Given the description of an element on the screen output the (x, y) to click on. 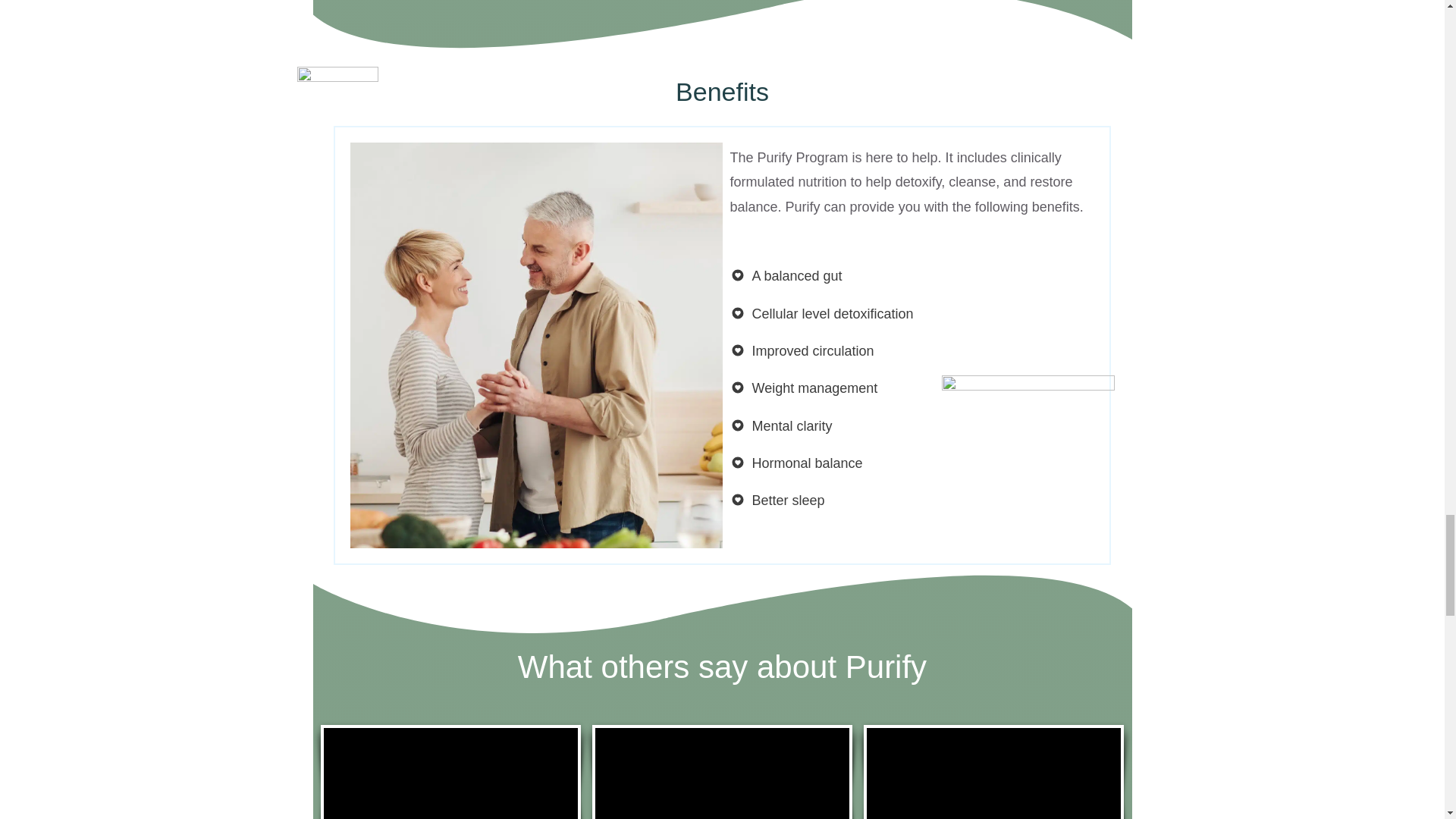
S Logo (337, 107)
Responsive Video (721, 773)
Responsive Video (449, 773)
